Given the description of an element on the screen output the (x, y) to click on. 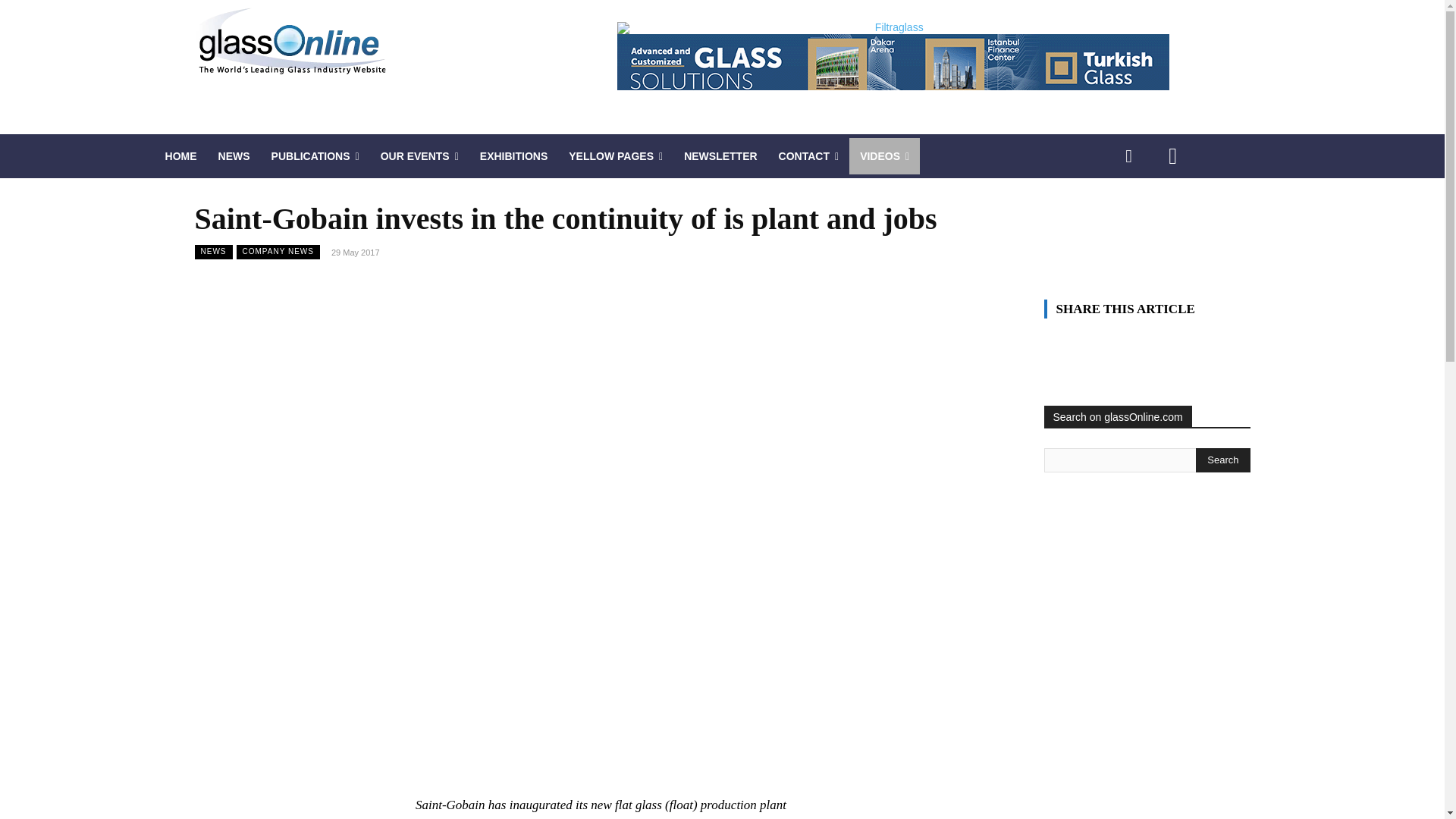
Search (1222, 459)
Linkedin (1128, 156)
Youtube (1172, 156)
